Given the description of an element on the screen output the (x, y) to click on. 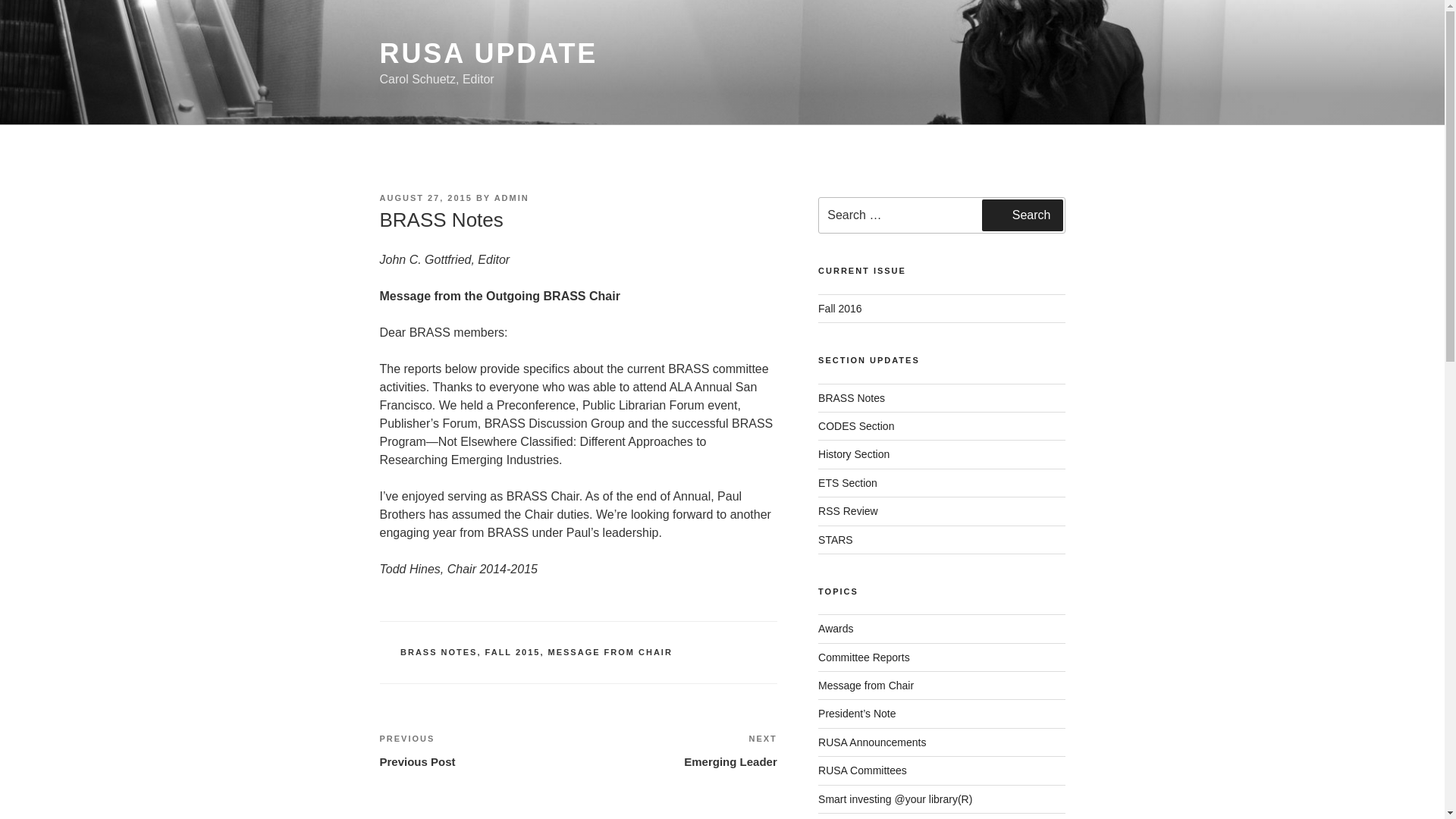
STARS (677, 750)
RUSA UPDATE (835, 539)
Awards (487, 52)
BRASS NOTES (835, 628)
RUSA Committees (438, 651)
Search (862, 770)
CODES Section (1021, 214)
AUGUST 27, 2015 (855, 426)
MESSAGE FROM CHAIR (424, 197)
